Given the description of an element on the screen output the (x, y) to click on. 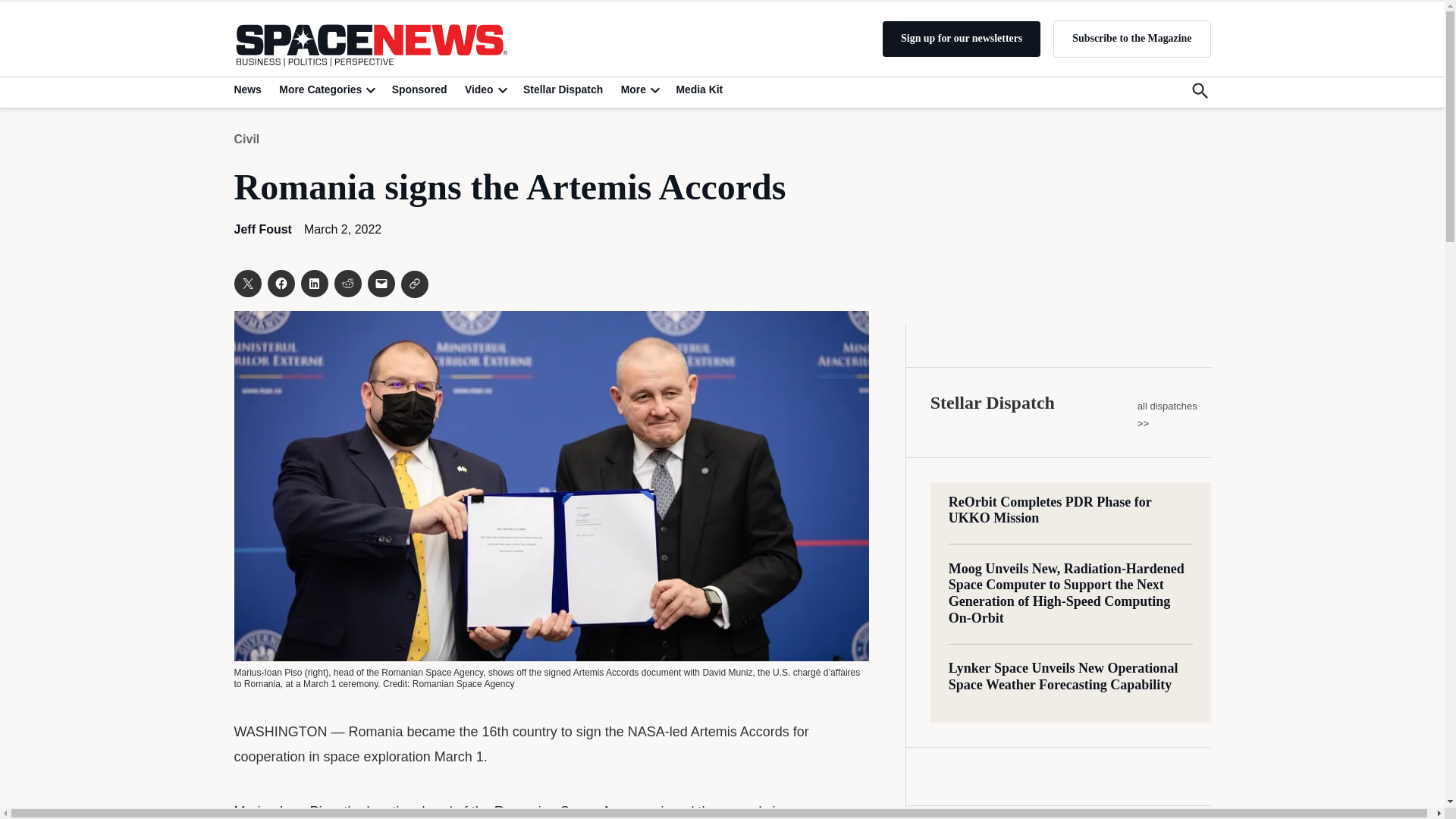
Click to share on Facebook (280, 283)
Click to email a link to a friend (380, 283)
Click to share on X (246, 283)
Click to share on Reddit (347, 283)
Sign up for our newsletters (961, 38)
Click to share on Clipboard (414, 284)
Click to share on LinkedIn (313, 283)
Subscribe to the Magazine (1130, 38)
